Given the description of an element on the screen output the (x, y) to click on. 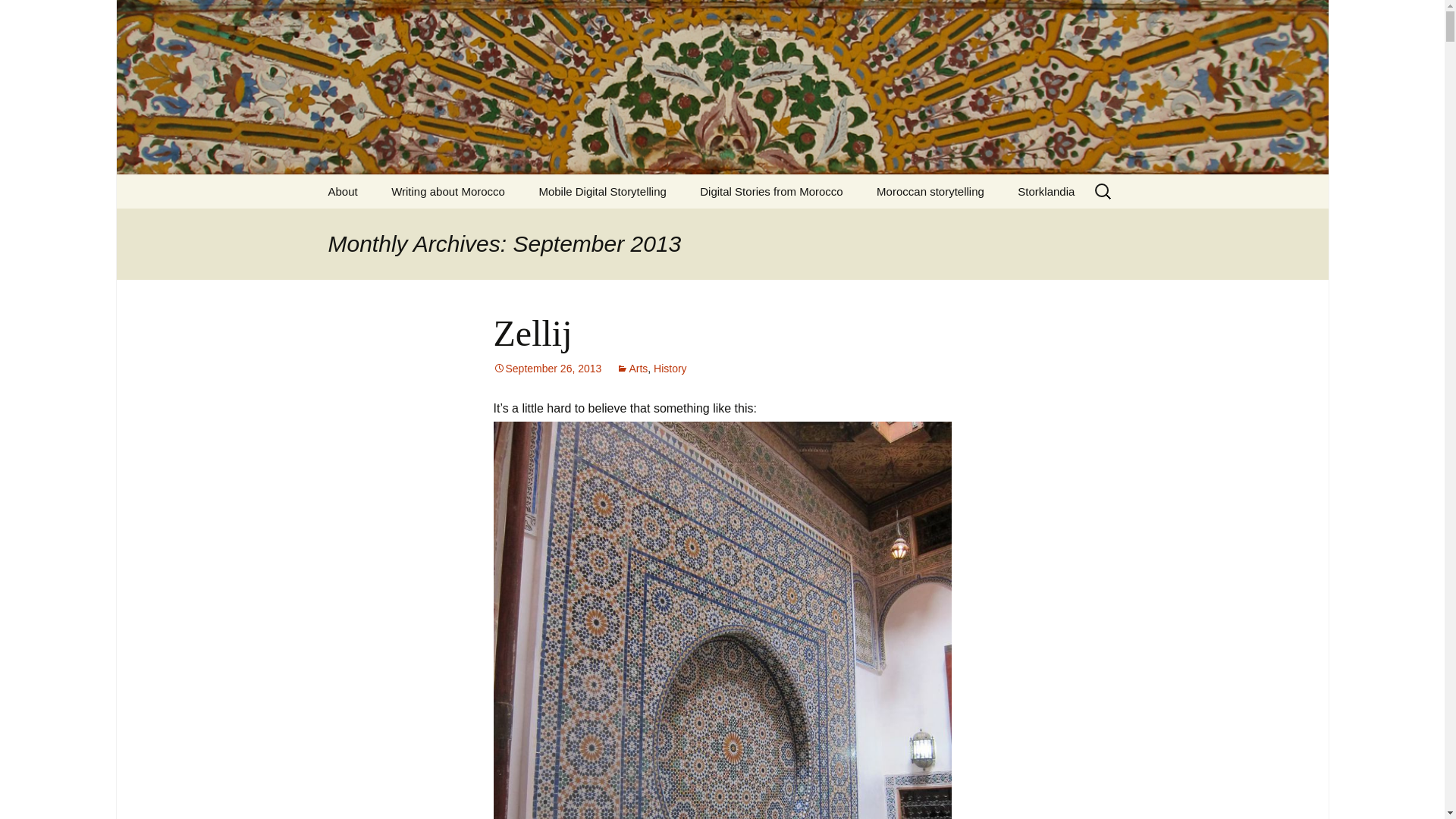
Moroccan storytelling (929, 191)
September 26, 2013 (547, 368)
Arts (631, 368)
History (670, 368)
About (342, 191)
Telouet stories: rural teachers (759, 230)
Search (18, 15)
Texts (451, 225)
Zellij (532, 332)
